Given the description of an element on the screen output the (x, y) to click on. 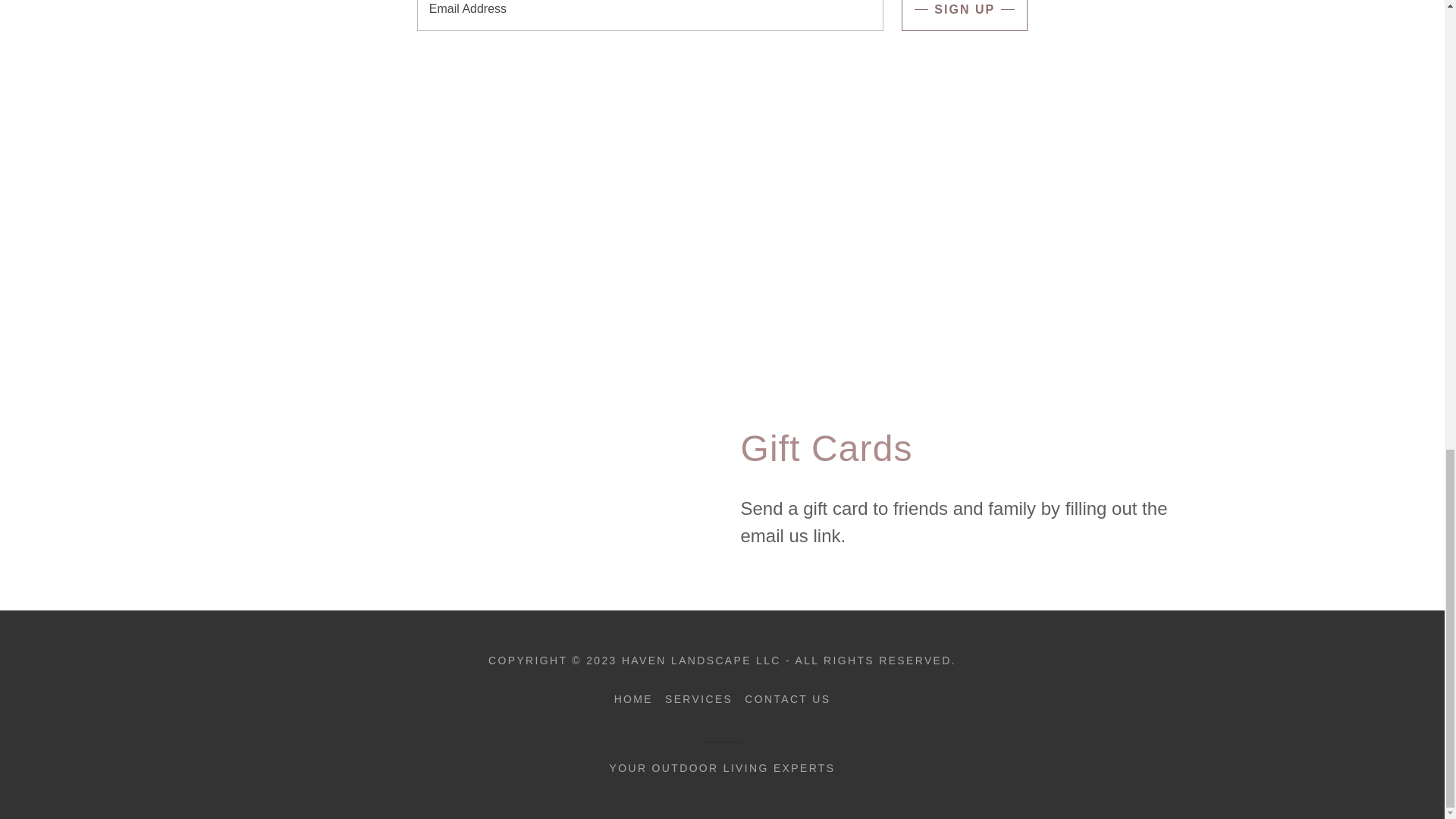
SIGN UP (964, 15)
ACCEPT (1274, 141)
SERVICES (698, 699)
HOME (633, 699)
CONTACT US (786, 699)
